Given the description of an element on the screen output the (x, y) to click on. 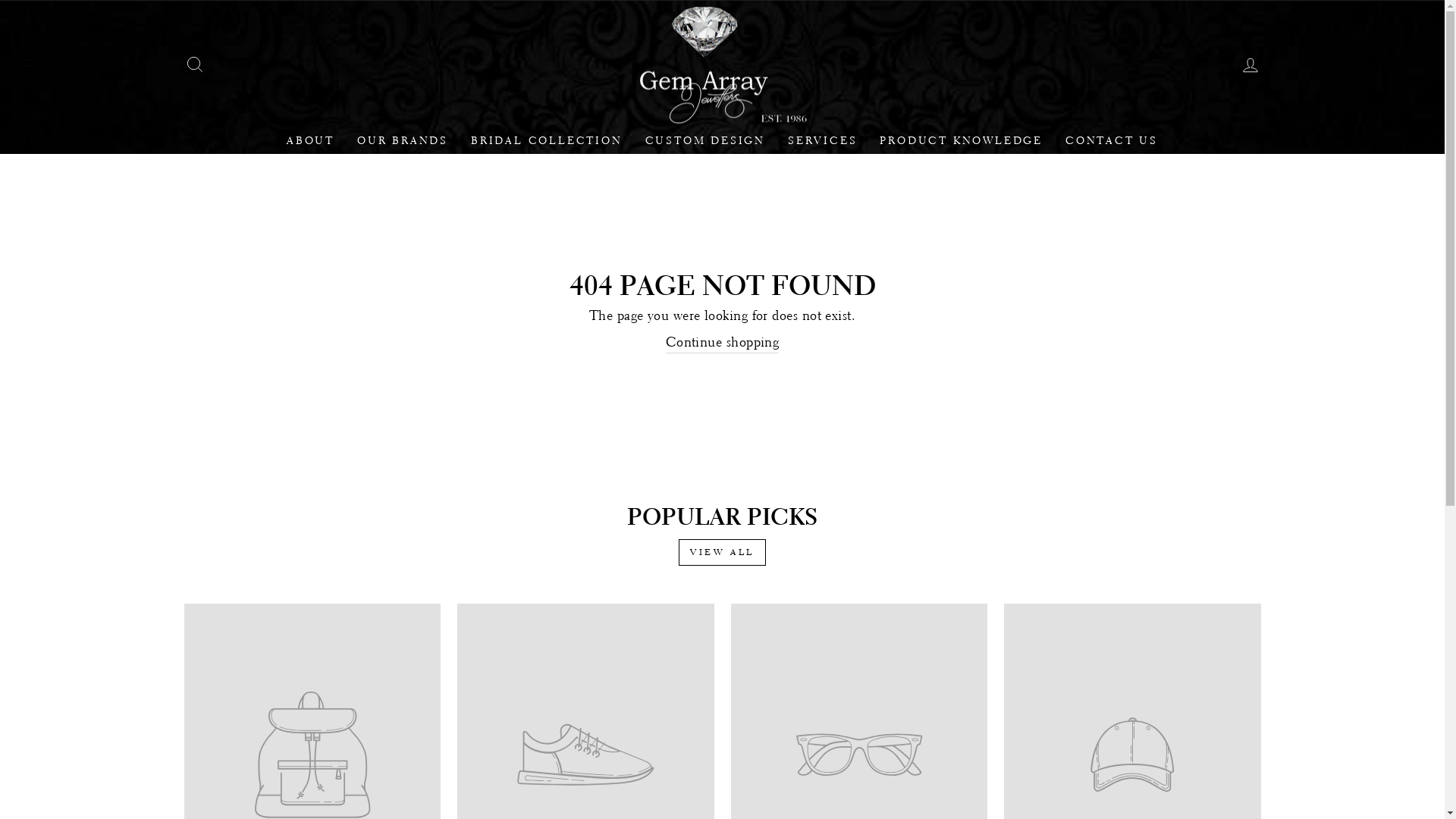
PRODUCT KNOWLEDGE Element type: text (961, 141)
BRIDAL COLLECTION Element type: text (546, 141)
CUSTOM DESIGN Element type: text (704, 141)
CONTACT US Element type: text (1111, 141)
SEARCH Element type: text (193, 63)
VIEW ALL Element type: text (721, 552)
OUR BRANDS Element type: text (402, 141)
LOG IN Element type: text (1249, 63)
Continue shopping Element type: text (722, 342)
SERVICES Element type: text (822, 141)
